Given the description of an element on the screen output the (x, y) to click on. 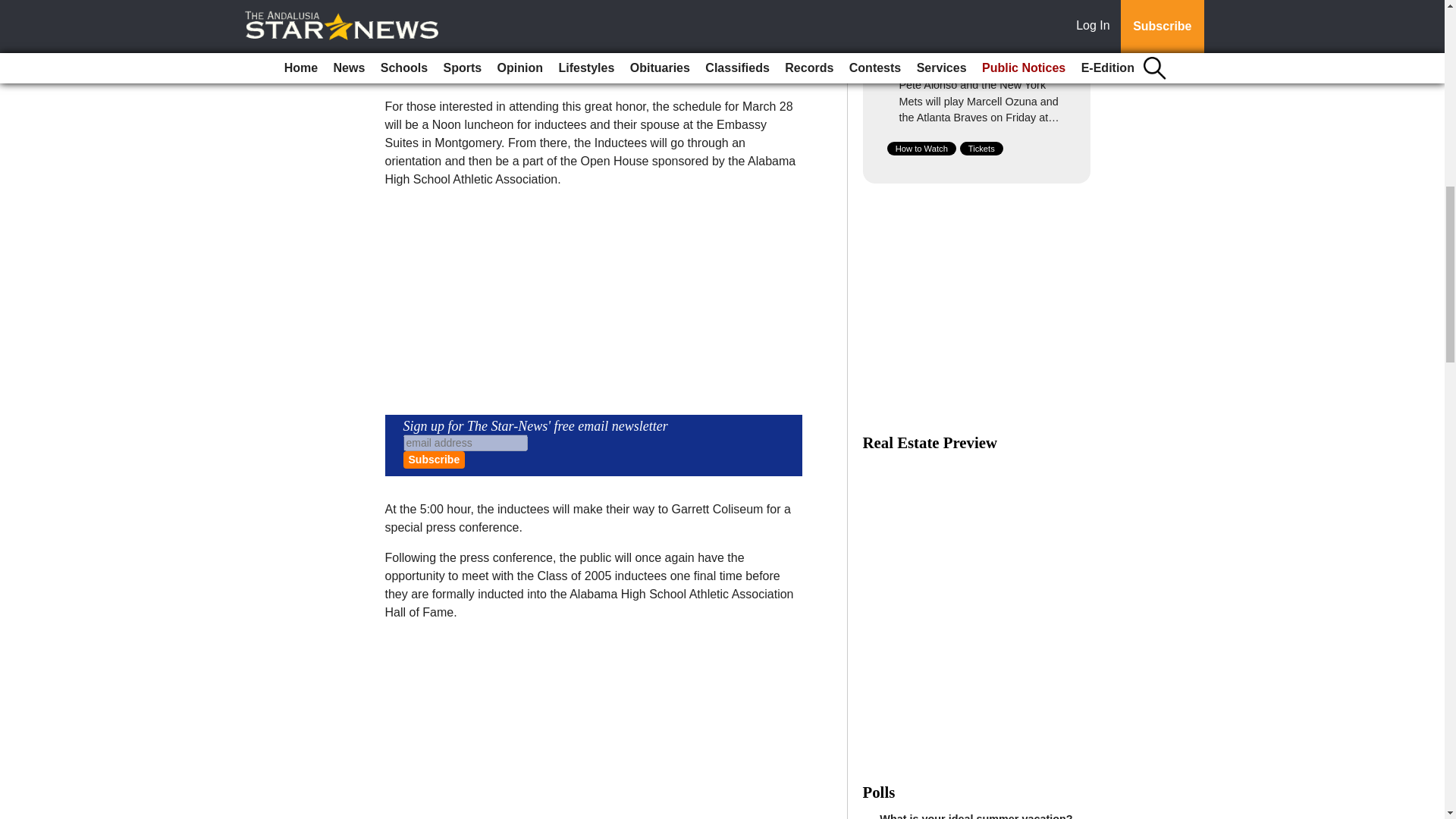
Tickets (981, 148)
Subscribe (434, 459)
Subscribe (434, 459)
How to Watch (921, 148)
